Given the description of an element on the screen output the (x, y) to click on. 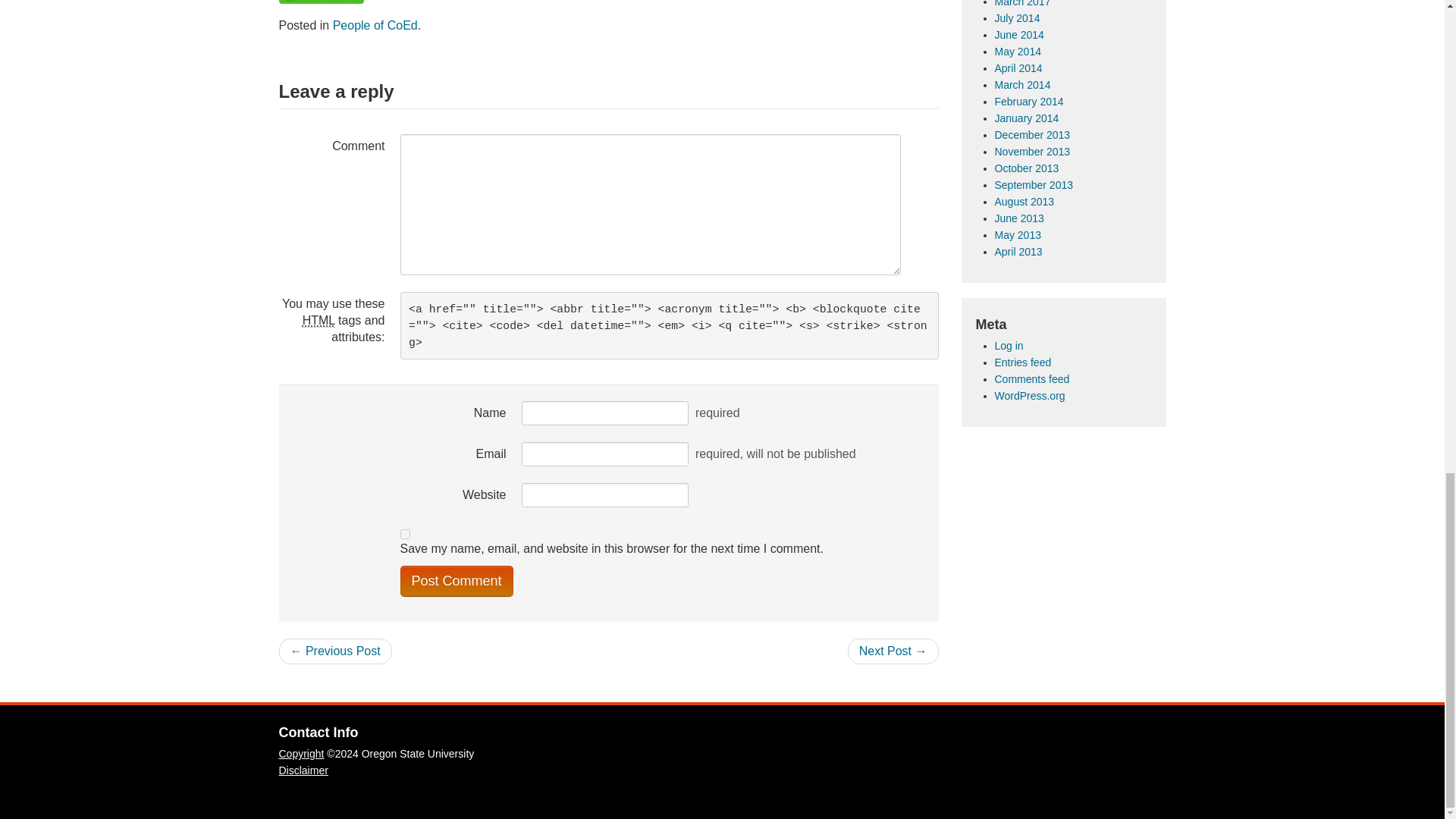
HyperText Markup Language (318, 320)
yes (405, 533)
People of CoEd (375, 24)
Post Comment (456, 581)
Post Comment (456, 581)
